Given the description of an element on the screen output the (x, y) to click on. 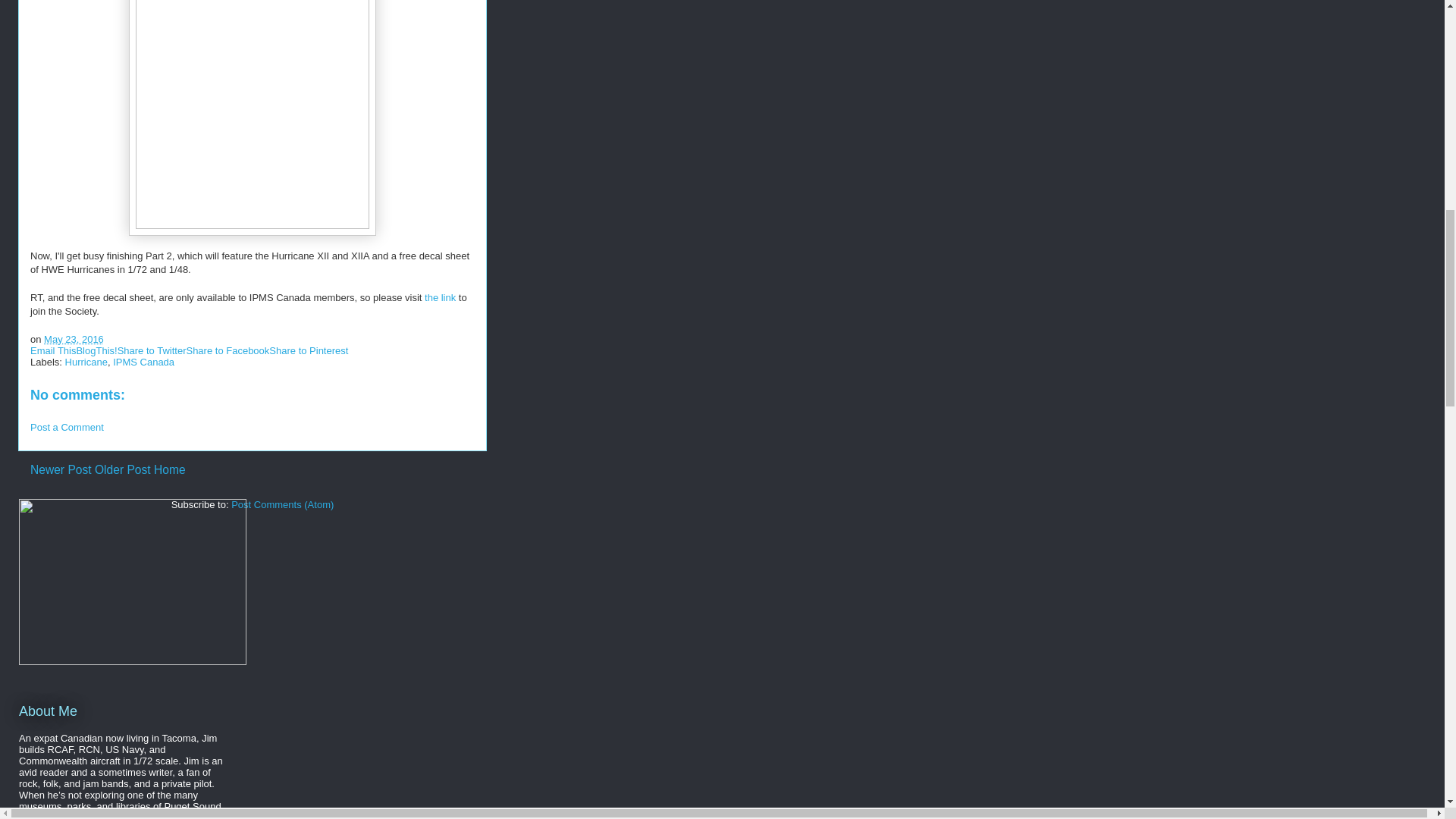
permanent link (73, 338)
Home (170, 469)
BlogThis! (95, 350)
Newer Post (60, 469)
Share to Facebook (227, 350)
Hurricane (86, 361)
the link (440, 297)
Newer Post (60, 469)
May 23, 2016 (73, 338)
Share to Facebook (227, 350)
Email This (52, 350)
Older Post (122, 469)
Post a Comment (66, 427)
Share to Pinterest (308, 350)
Email This (52, 350)
